Given the description of an element on the screen output the (x, y) to click on. 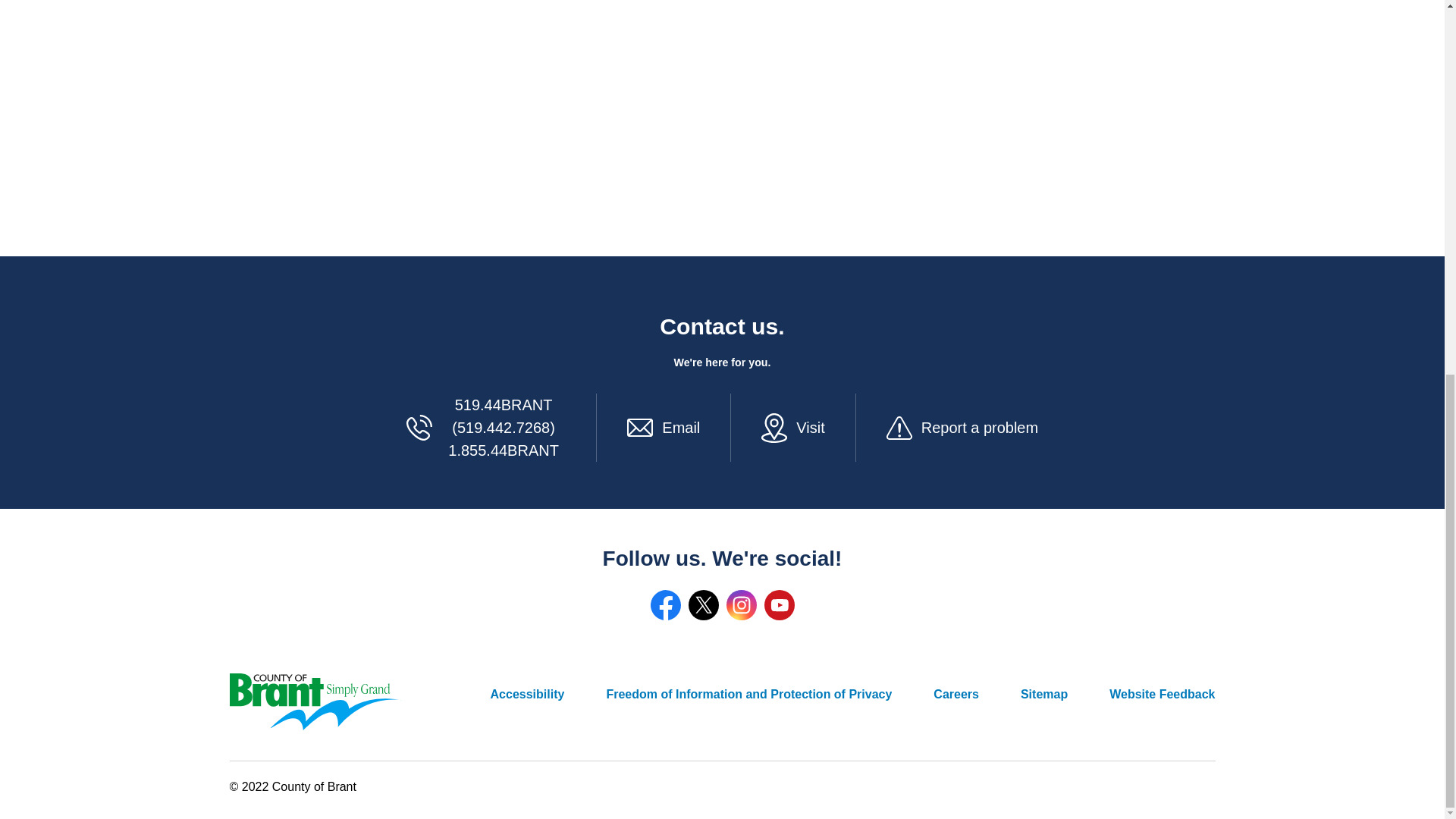
Visit (810, 427)
Sitemap (1043, 694)
Freedom of Information and Protection of Privacy (748, 694)
Careers (955, 694)
Accessibility (527, 694)
Call us at 519.442.7268 (503, 427)
Report a problem (979, 427)
Email the County of Brant (681, 427)
View our Accessibility Services page (527, 694)
